Given the description of an element on the screen output the (x, y) to click on. 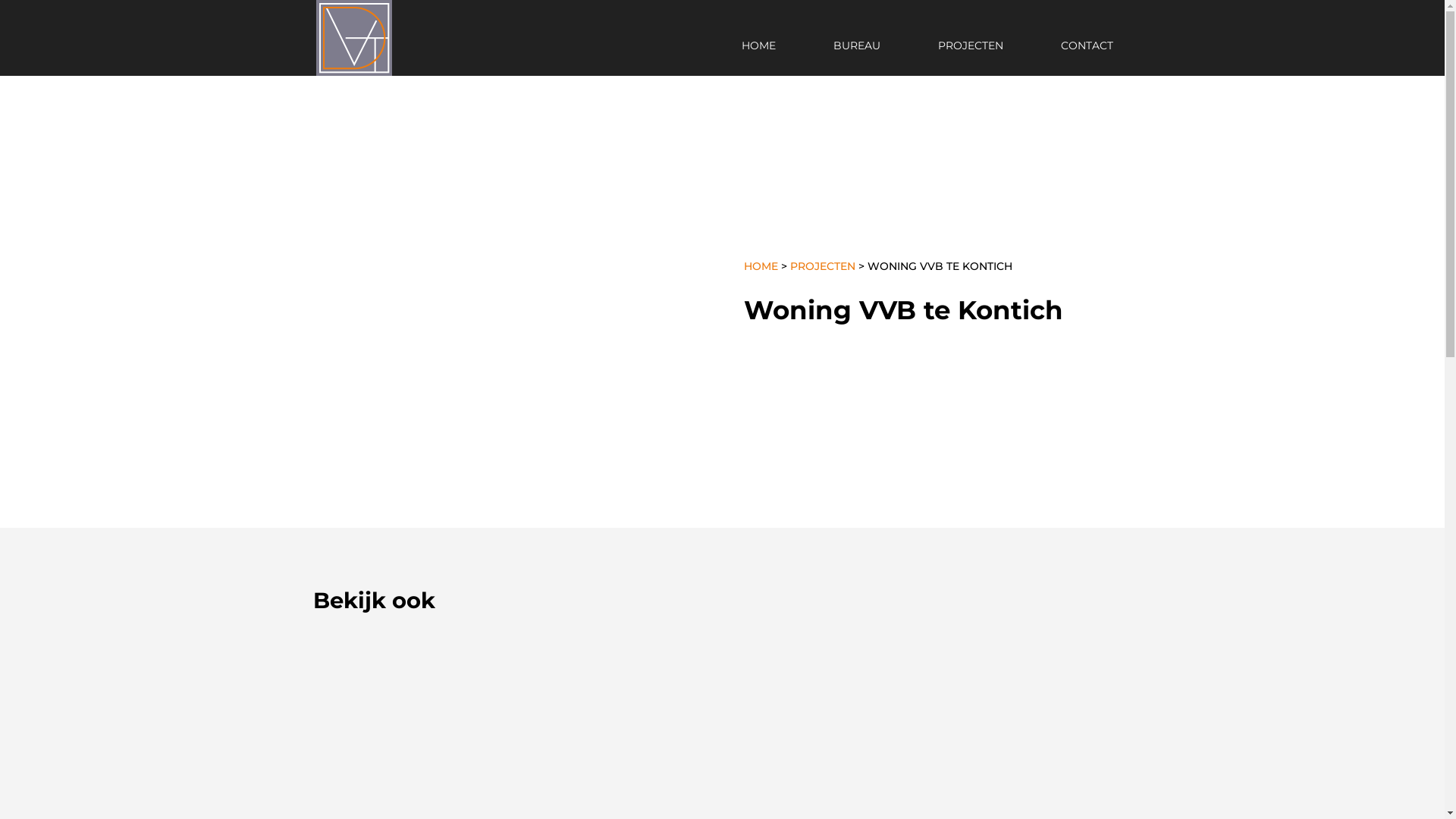
HOME Element type: text (757, 57)
Woning WD te Humbeek Element type: hover (613, 698)
PROJECTEN Element type: text (970, 57)
PROJECTEN Element type: text (822, 266)
CONTACT Element type: text (1086, 57)
Woning VVH te Tisselt Element type: hover (1022, 698)
Woning WU te Edegem Element type: hover (408, 698)
HOME Element type: text (760, 266)
Woning VW te Aartselaar Element type: hover (817, 698)
BUREAU Element type: text (856, 57)
